Given the description of an element on the screen output the (x, y) to click on. 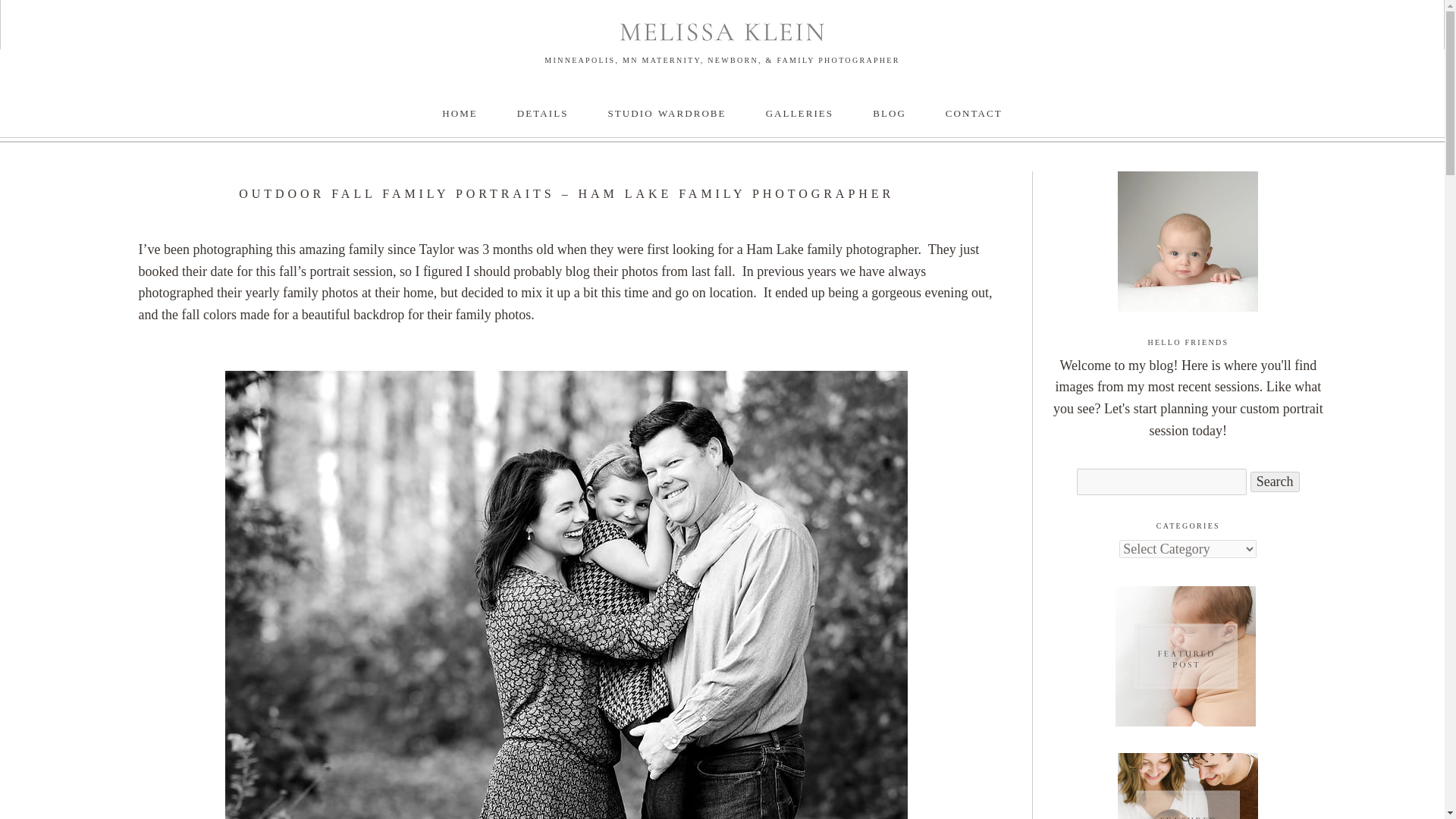
Search (1275, 481)
DETAILS (542, 112)
HOME (459, 112)
BLOG (888, 112)
GALLERIES (799, 112)
STUDIO WARDROBE (667, 112)
Search (1275, 481)
CONTACT (973, 112)
